Given the description of an element on the screen output the (x, y) to click on. 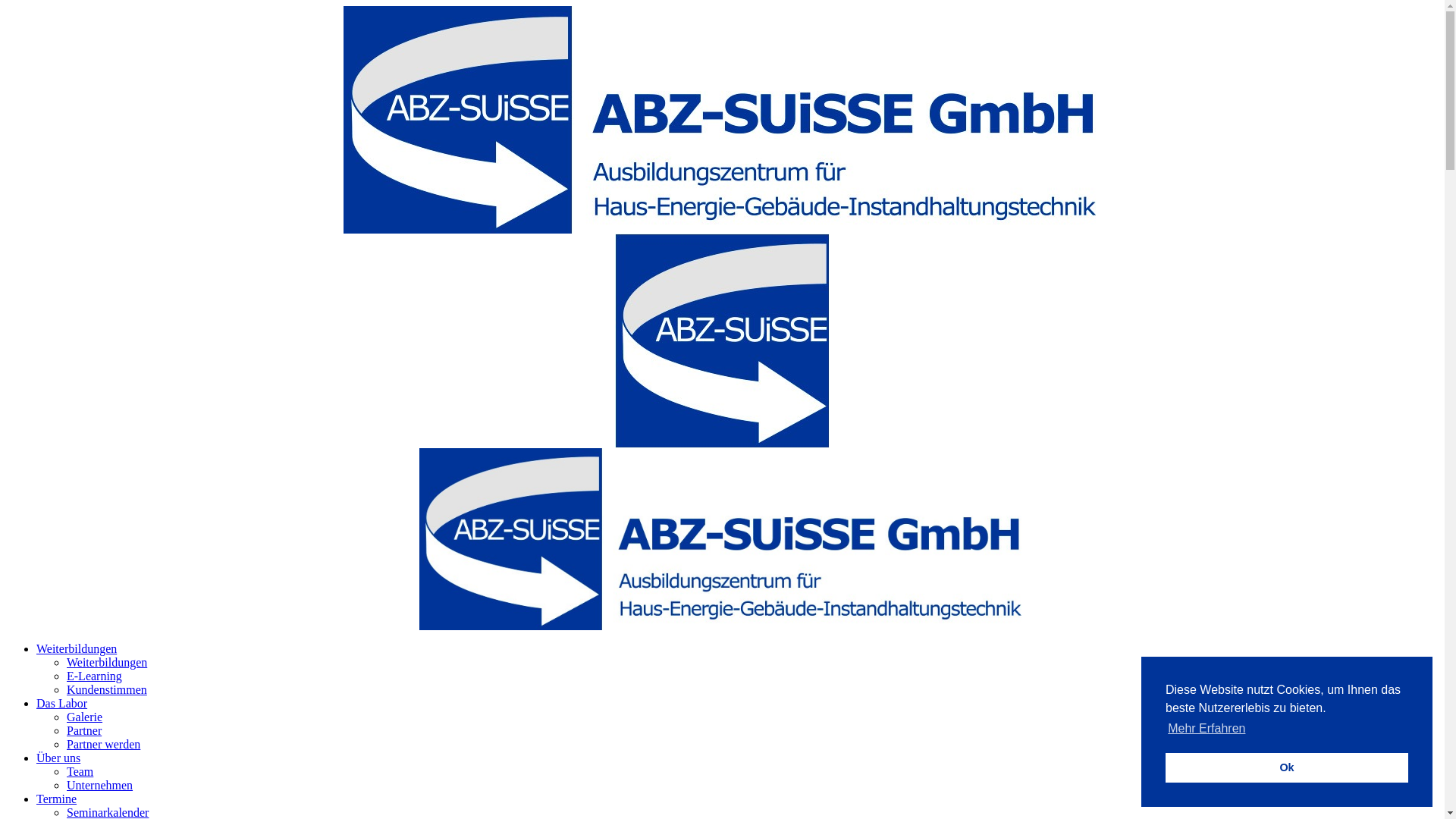
Weiterbildungen Element type: text (106, 661)
Kundenstimmen Element type: text (106, 689)
Termine Element type: text (56, 798)
Ok Element type: text (1286, 767)
Team Element type: text (79, 771)
Mehr Erfahren Element type: text (1206, 728)
Partner Element type: text (83, 730)
Zum Inhalt wechseln Element type: text (5, 5)
Unternehmen Element type: text (99, 784)
Das Labor Element type: text (61, 702)
Partner werden Element type: text (103, 743)
Weiterbildungen Element type: text (76, 648)
E-Learning Element type: text (94, 675)
Galerie Element type: text (84, 716)
